Given the description of an element on the screen output the (x, y) to click on. 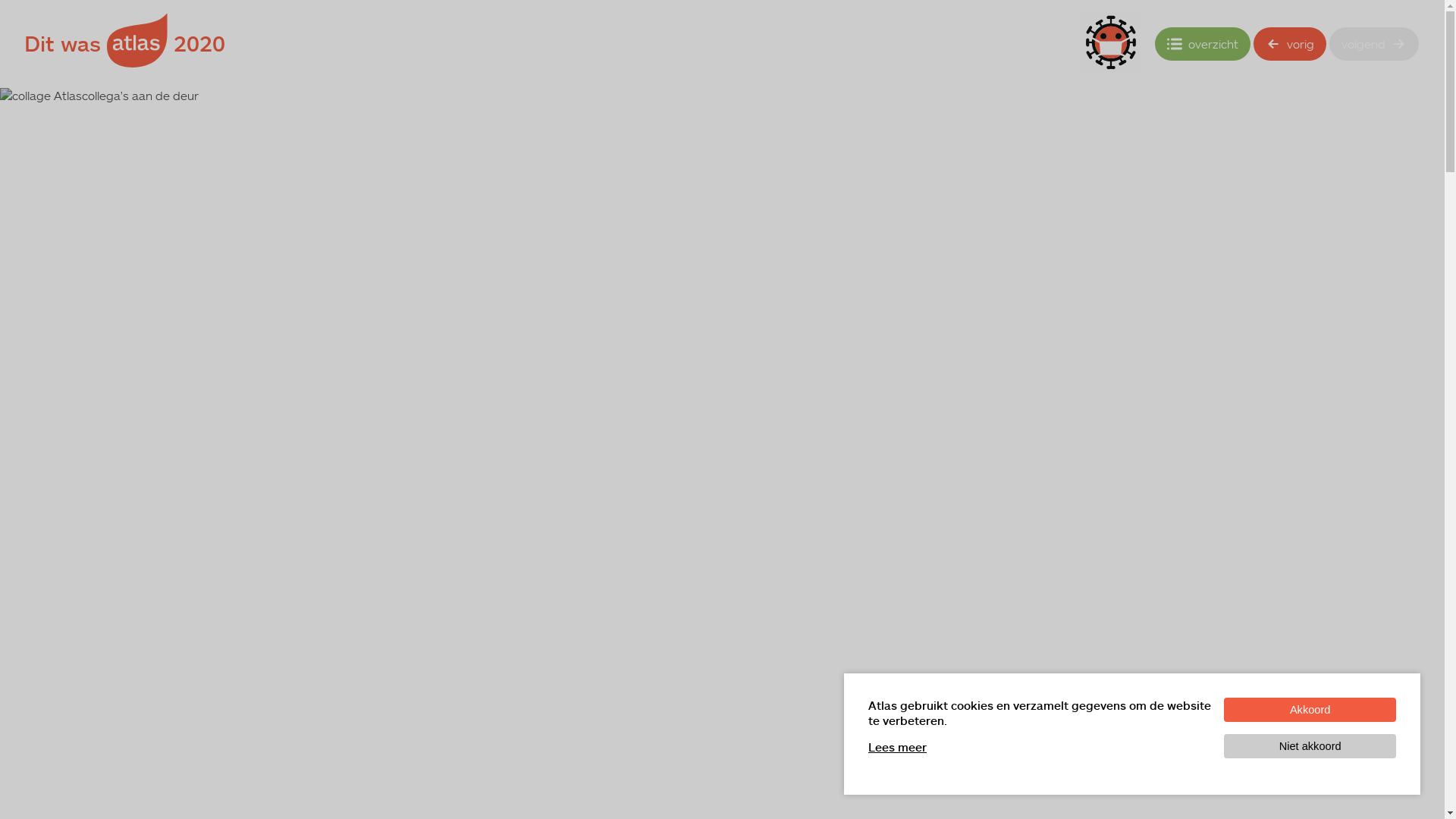
vorig Element type: text (1289, 43)
overzicht Element type: text (1202, 43)
Akkoord Element type: text (1309, 709)
volgend Element type: text (1373, 43)
Niet akkoord Element type: text (1309, 746)
Dit was
2020 Element type: text (124, 43)
Lees meer Element type: text (897, 746)
